Given the description of an element on the screen output the (x, y) to click on. 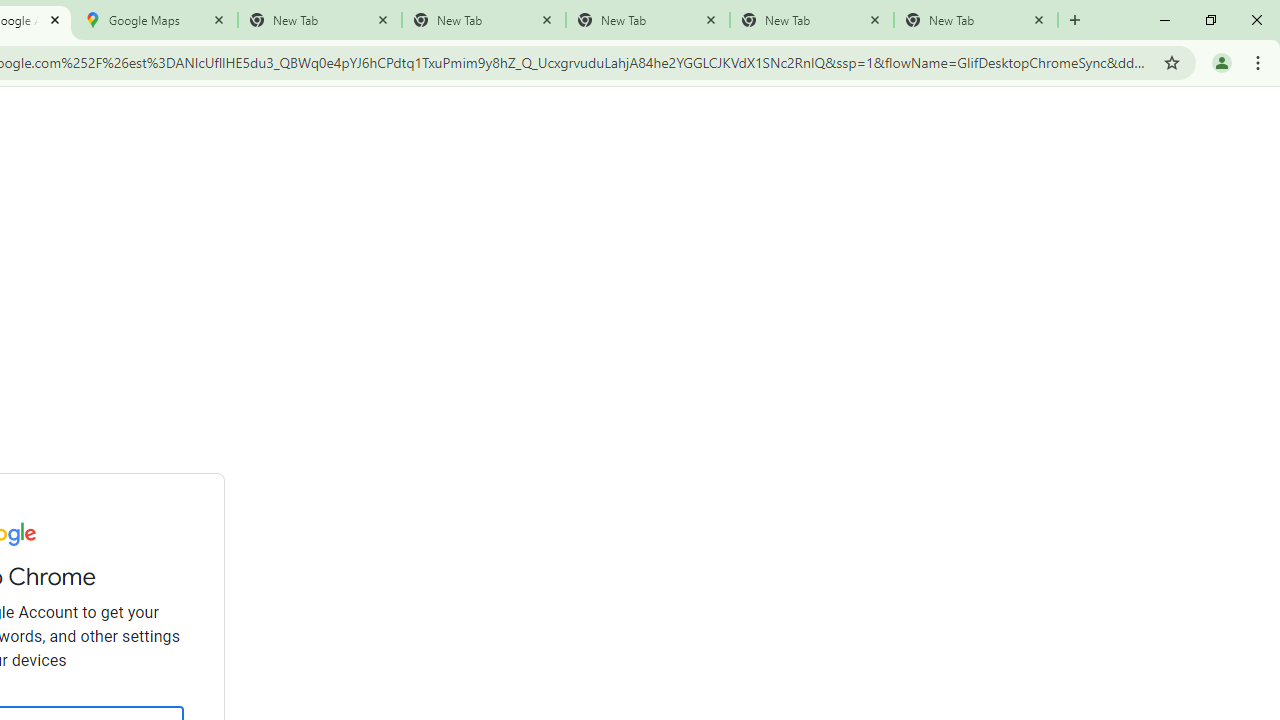
Google Maps (156, 20)
New Tab (975, 20)
